Given the description of an element on the screen output the (x, y) to click on. 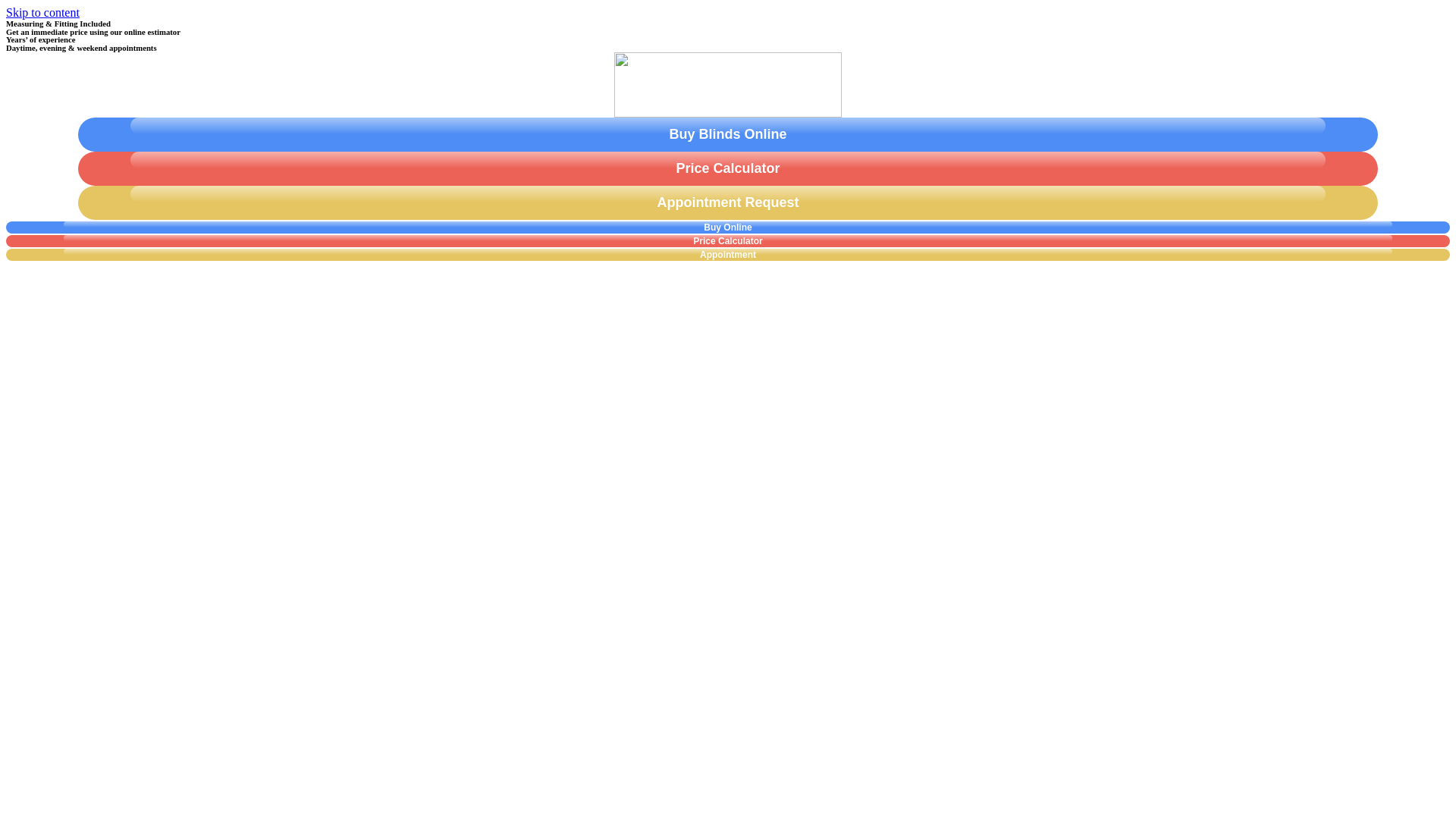
Buy Blinds Online (727, 134)
Appointment Request (727, 202)
Skip to content (42, 11)
Price Calculator (727, 168)
